Given the description of an element on the screen output the (x, y) to click on. 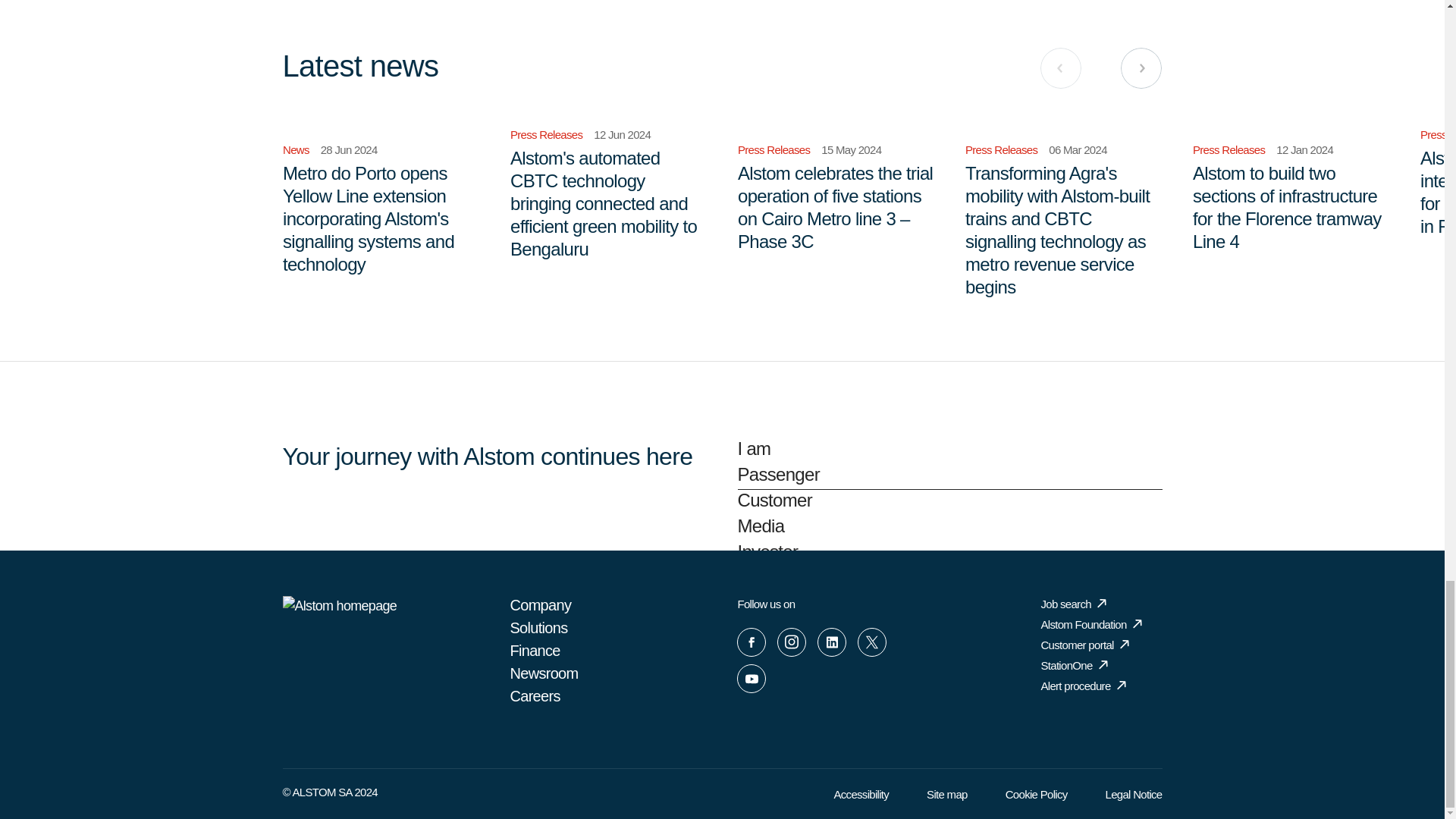
Twitter (871, 642)
LinkedIn (830, 642)
Previous slide (1061, 67)
Facebook (750, 642)
Next slide (1141, 67)
Instagram (791, 642)
